Given the description of an element on the screen output the (x, y) to click on. 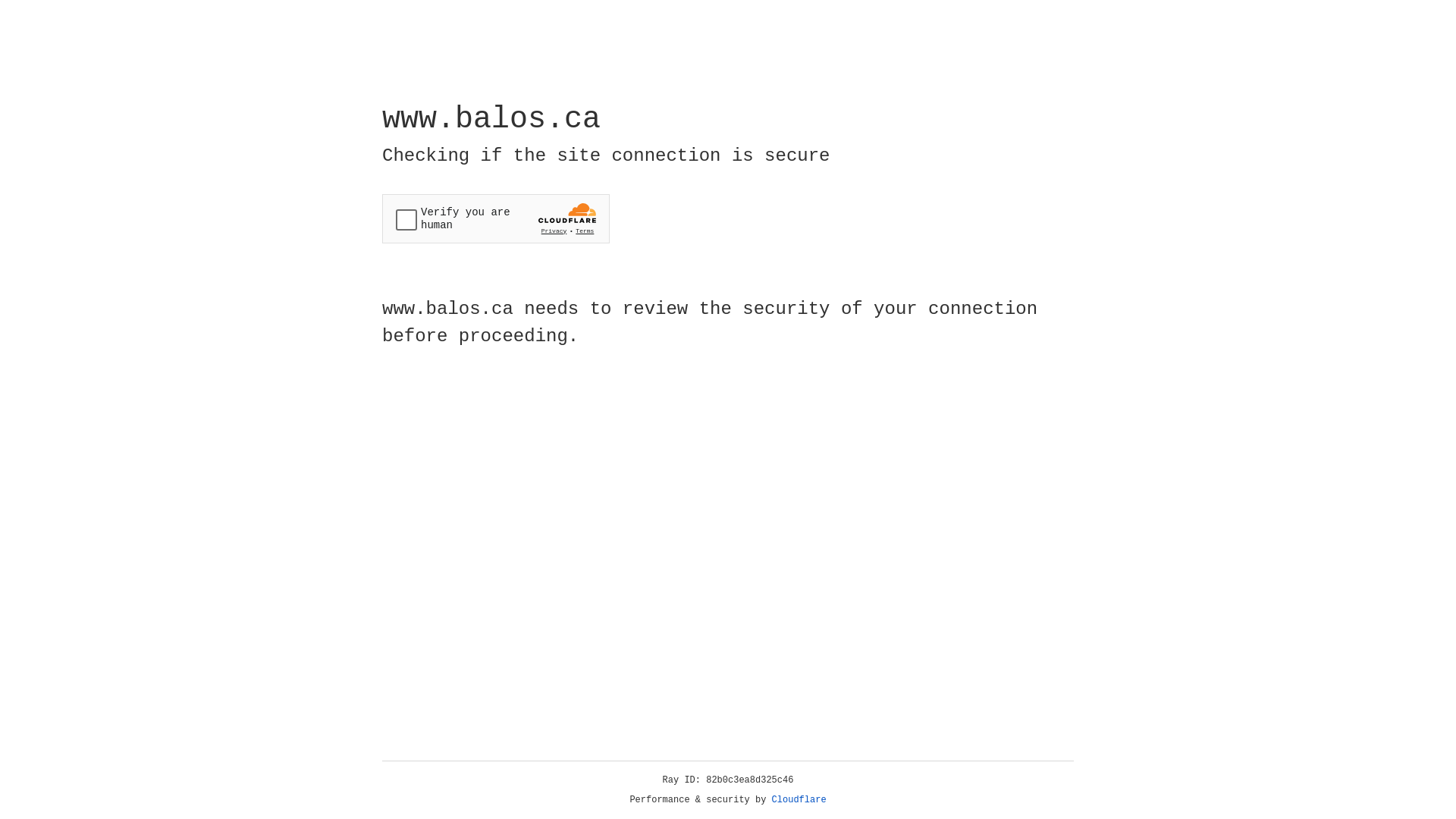
Cloudflare Element type: text (798, 799)
Widget containing a Cloudflare security challenge Element type: hover (495, 218)
